Given the description of an element on the screen output the (x, y) to click on. 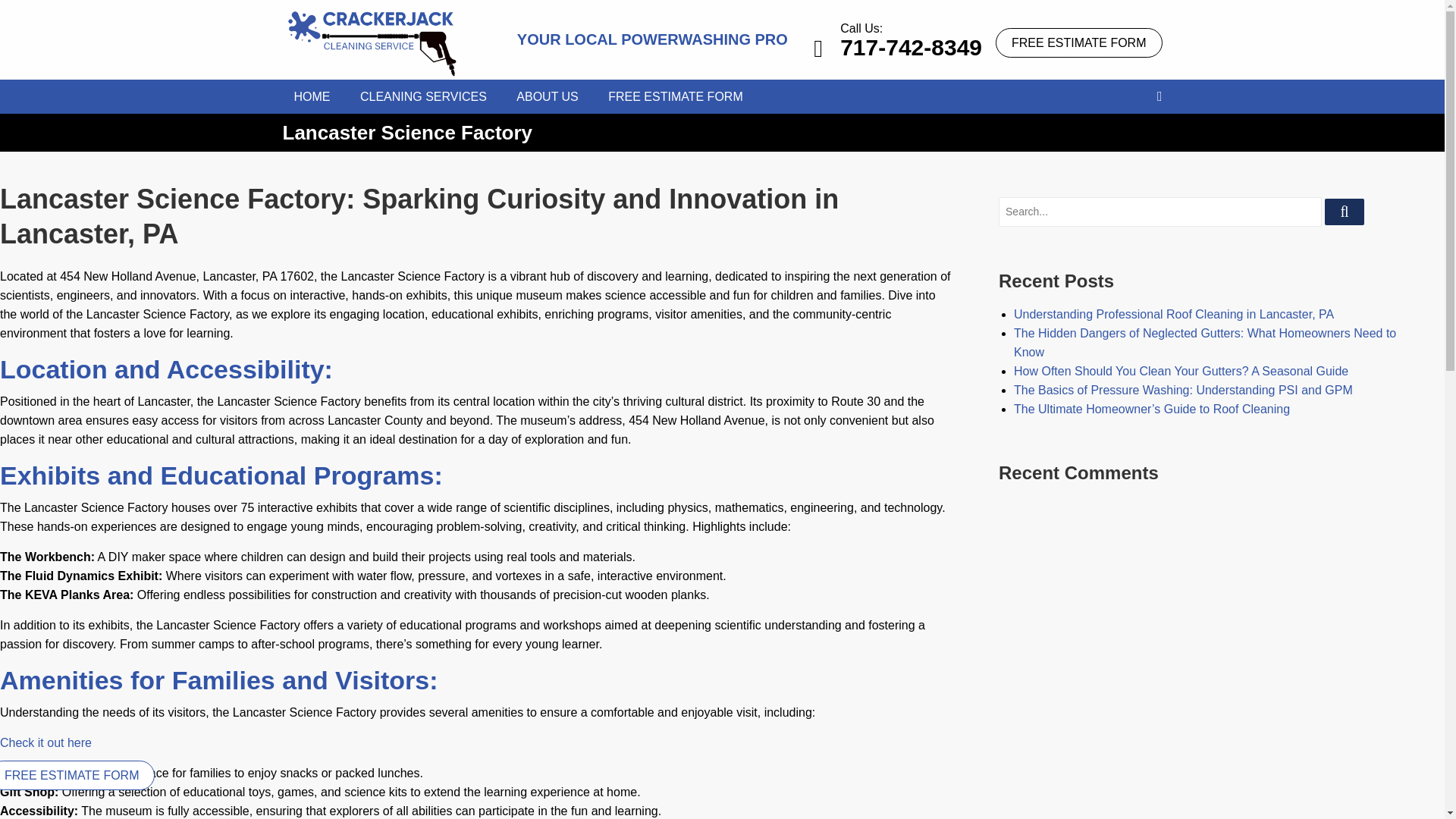
The Basics of Pressure Washing: Understanding PSI and GPM (1182, 390)
HOME (312, 96)
ABOUT US (547, 96)
Check it out here (45, 742)
Understanding Professional Roof Cleaning in Lancaster, PA (1173, 314)
717-742-8349 (910, 47)
How Often Should You Clean Your Gutters? A Seasonal Guide (1180, 370)
FREE ESTIMATE FORM (1078, 42)
FREE ESTIMATE FORM (674, 96)
CLEANING SERVICES (423, 96)
FREE ESTIMATE FORM (77, 775)
